Given the description of an element on the screen output the (x, y) to click on. 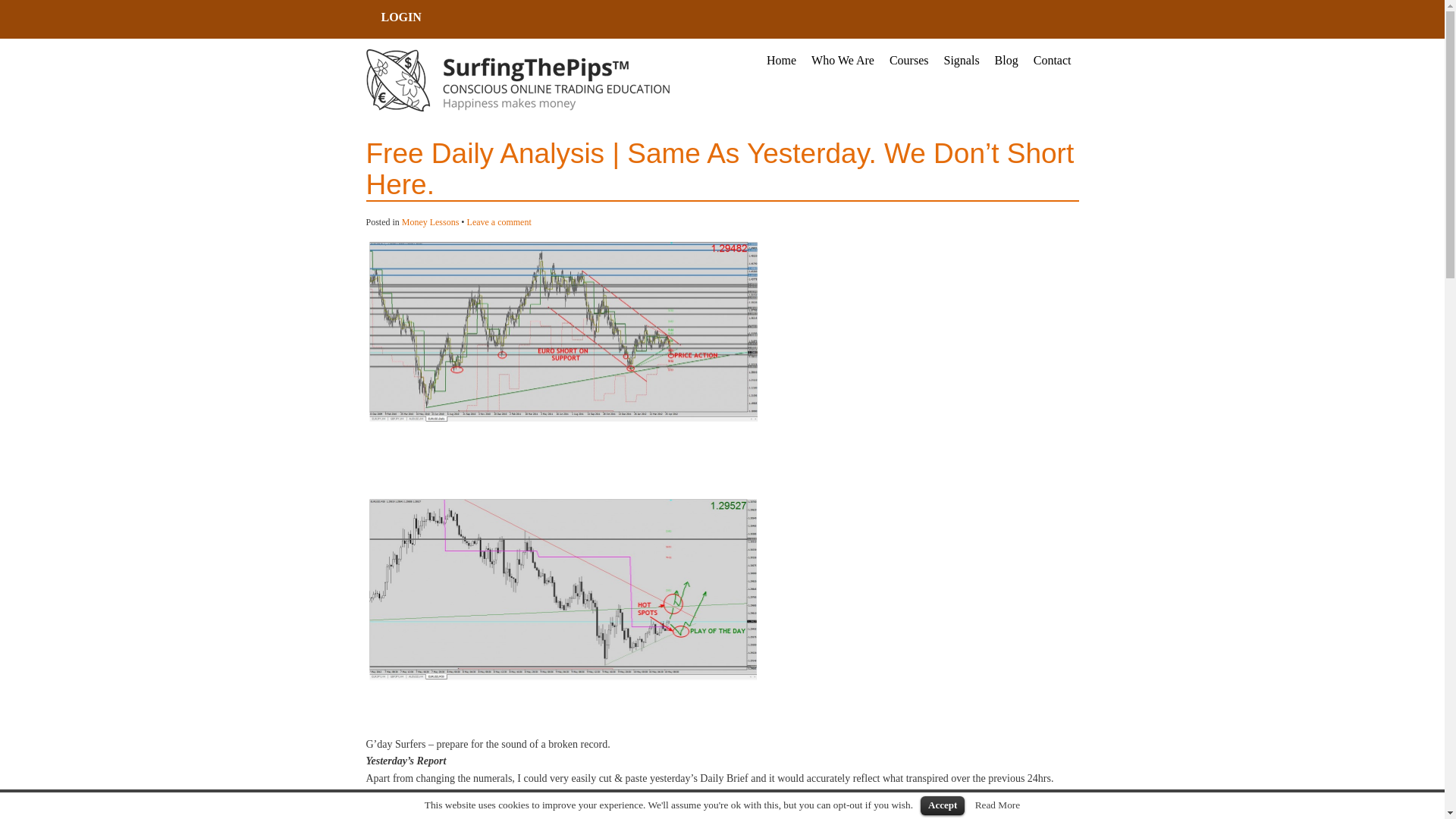
Leave a comment (499, 222)
Who We Are (842, 60)
Signals (961, 60)
Home (780, 60)
Read More (997, 804)
DB1005 M30 (562, 589)
DB1005 Daily (562, 331)
Money Lessons (430, 222)
Accept (941, 805)
Live Forex Signals and Training (516, 80)
Contact (1052, 60)
LOGIN (400, 19)
Blog (1006, 60)
Courses (909, 60)
